Given the description of an element on the screen output the (x, y) to click on. 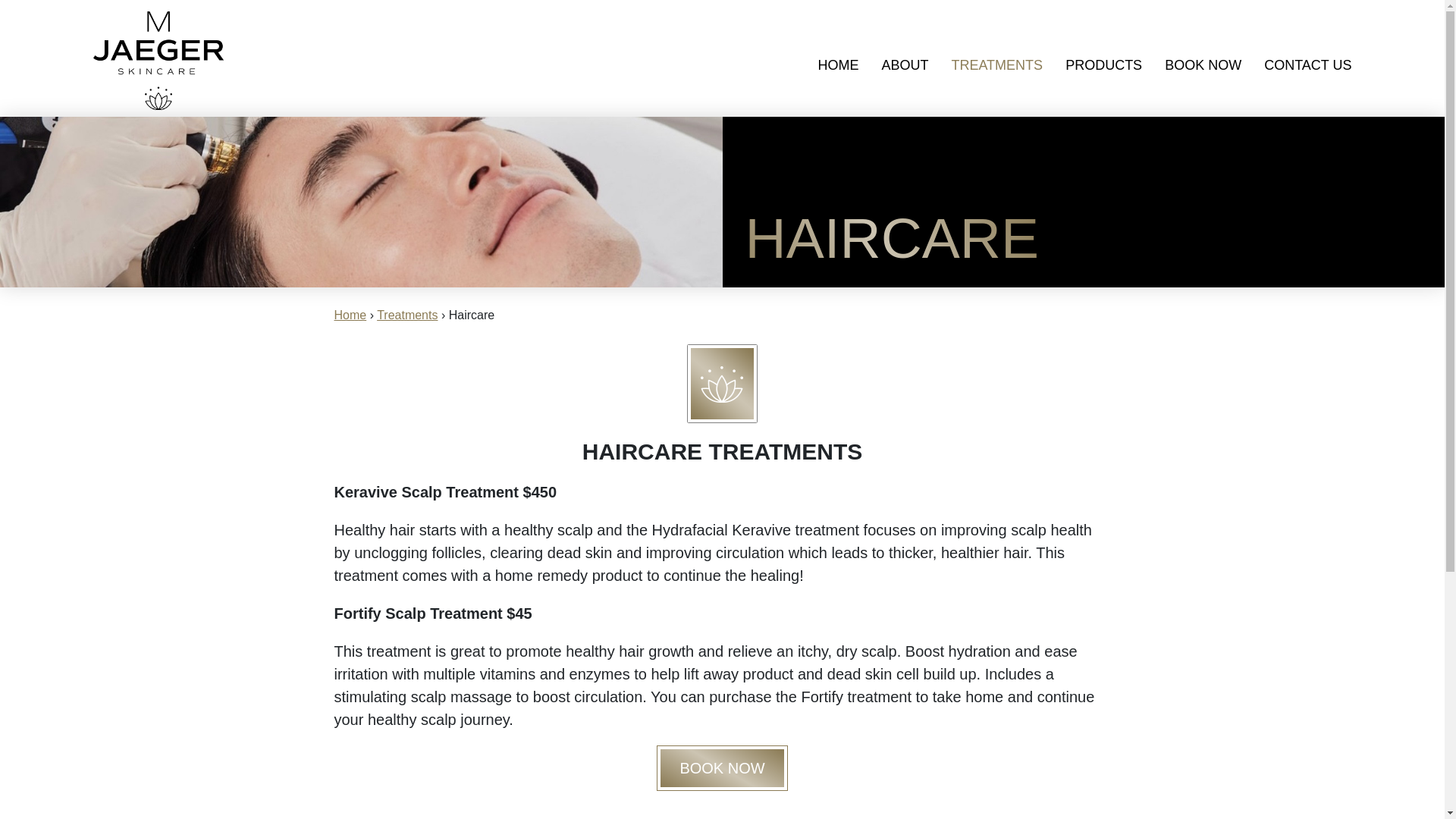
TREATMENTS (996, 64)
BOOK NOW (1202, 64)
BOOK NOW (722, 768)
PRODUCTS (1103, 64)
CONTACT US (1307, 64)
Haircare (361, 202)
Home (349, 314)
Treatments (407, 314)
HOME (837, 64)
ABOUT (904, 64)
